Given the description of an element on the screen output the (x, y) to click on. 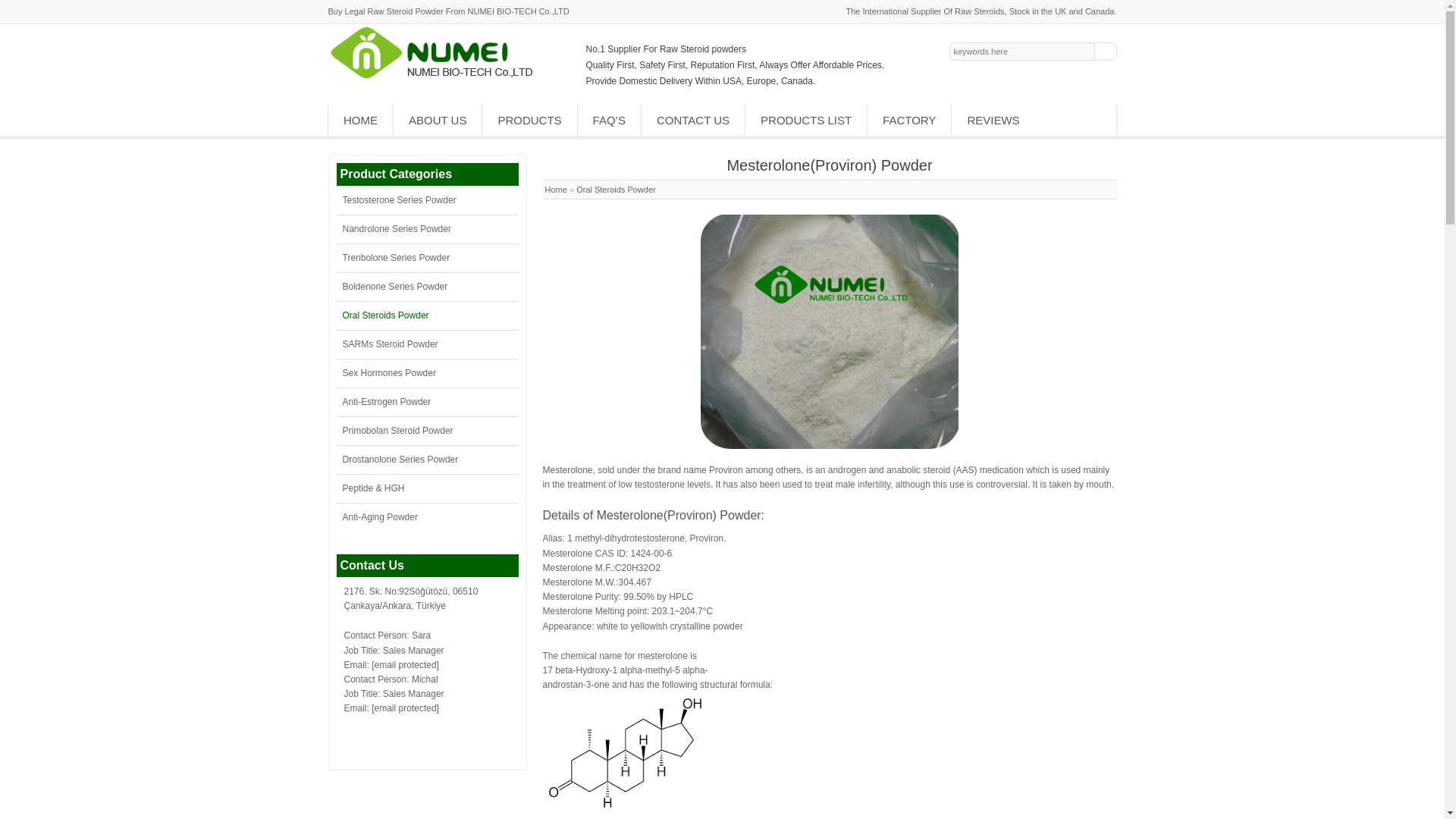
No.1 Raw Steroid Powder Supplier NuMei Bio-Tech Co.,Ltd. (437, 77)
HOME (361, 119)
PRODUCTS (528, 119)
PRODUCTS LIST (805, 119)
FACTORY (908, 119)
REVIEWS (992, 119)
ABOUT US (437, 119)
CONTACT US (693, 119)
